Given the description of an element on the screen output the (x, y) to click on. 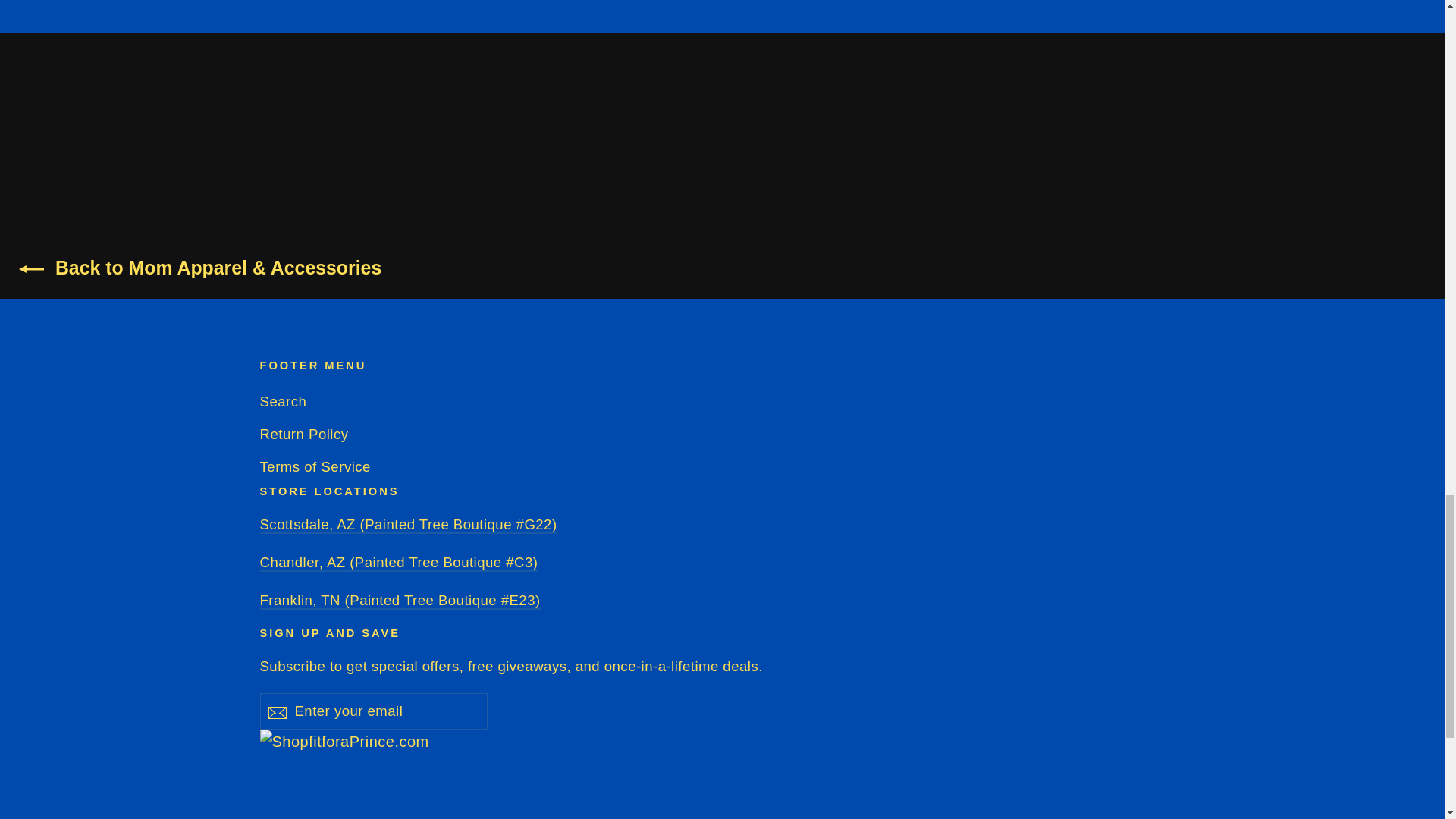
FFAP - Franklin, TN (399, 600)
FFAP - Chandler, AZ (398, 562)
FFAP - Scottsdale, AZ (407, 524)
